Given the description of an element on the screen output the (x, y) to click on. 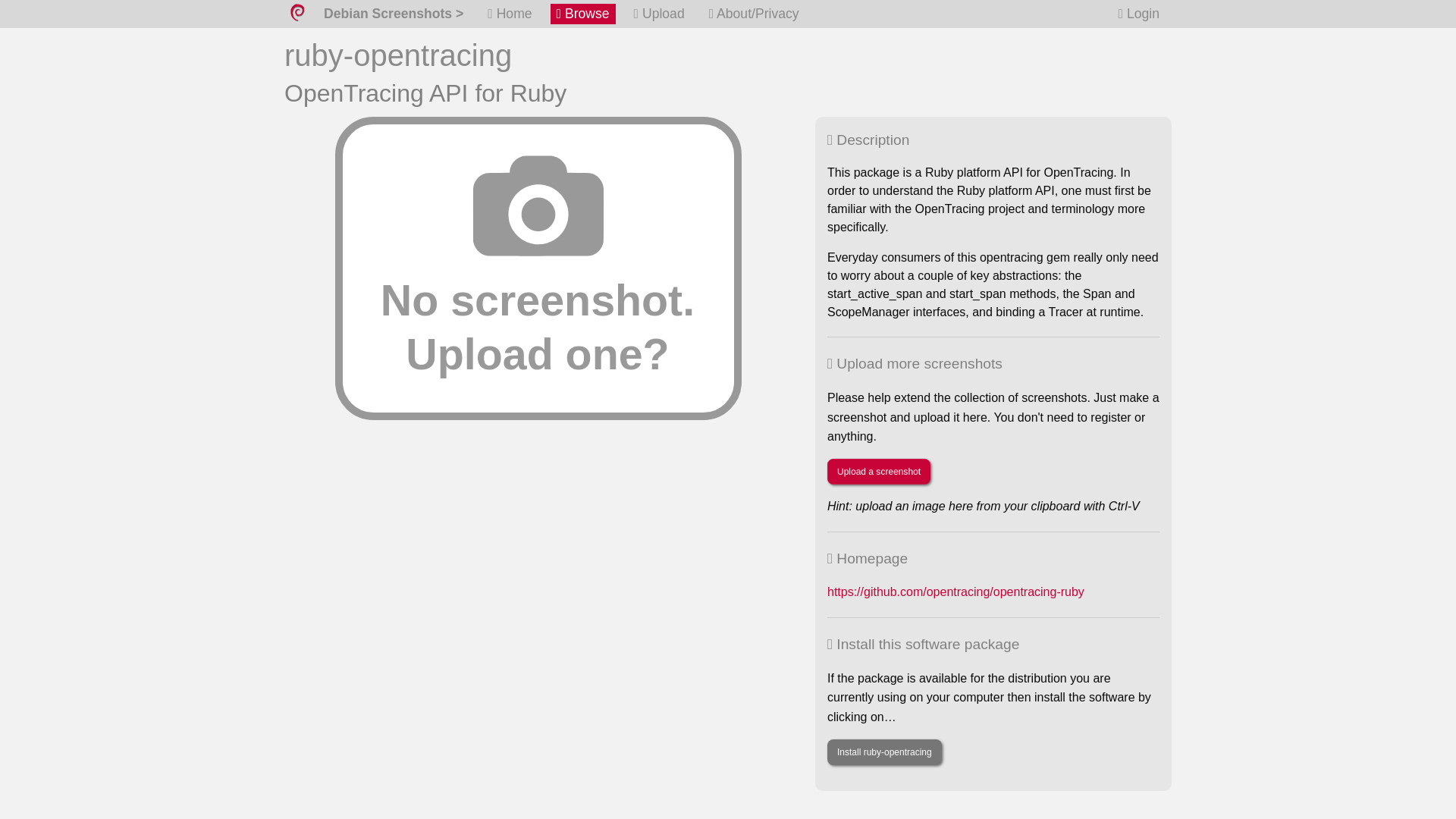
Login (1139, 14)
Home (509, 14)
Upload a screenshot (878, 471)
Upload (658, 14)
Browse (582, 14)
Install ruby-opentracing (884, 751)
